Given the description of an element on the screen output the (x, y) to click on. 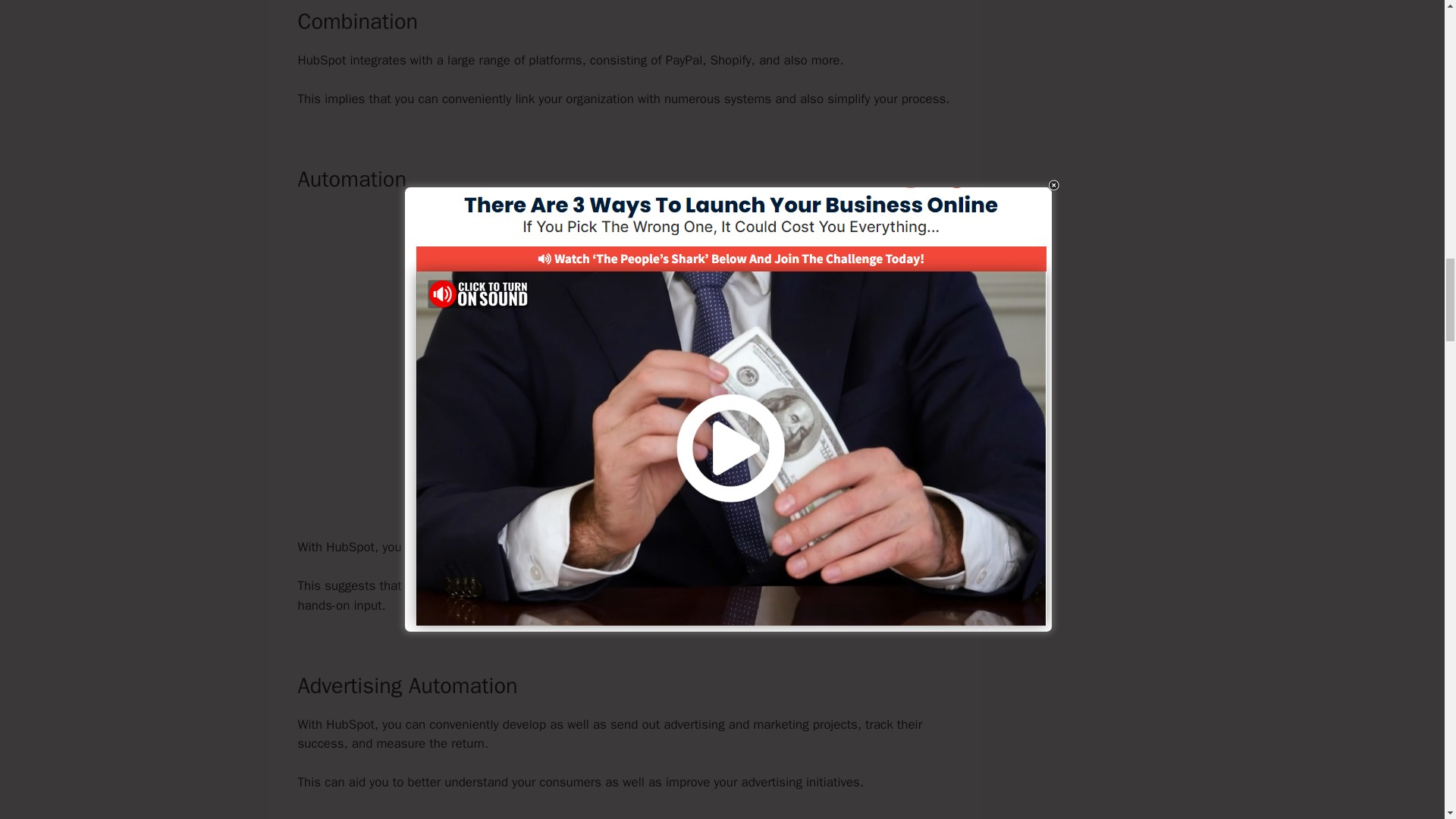
Grab Your HubSpot Free Account Now (623, 495)
YouTube video player (619, 327)
